Given the description of an element on the screen output the (x, y) to click on. 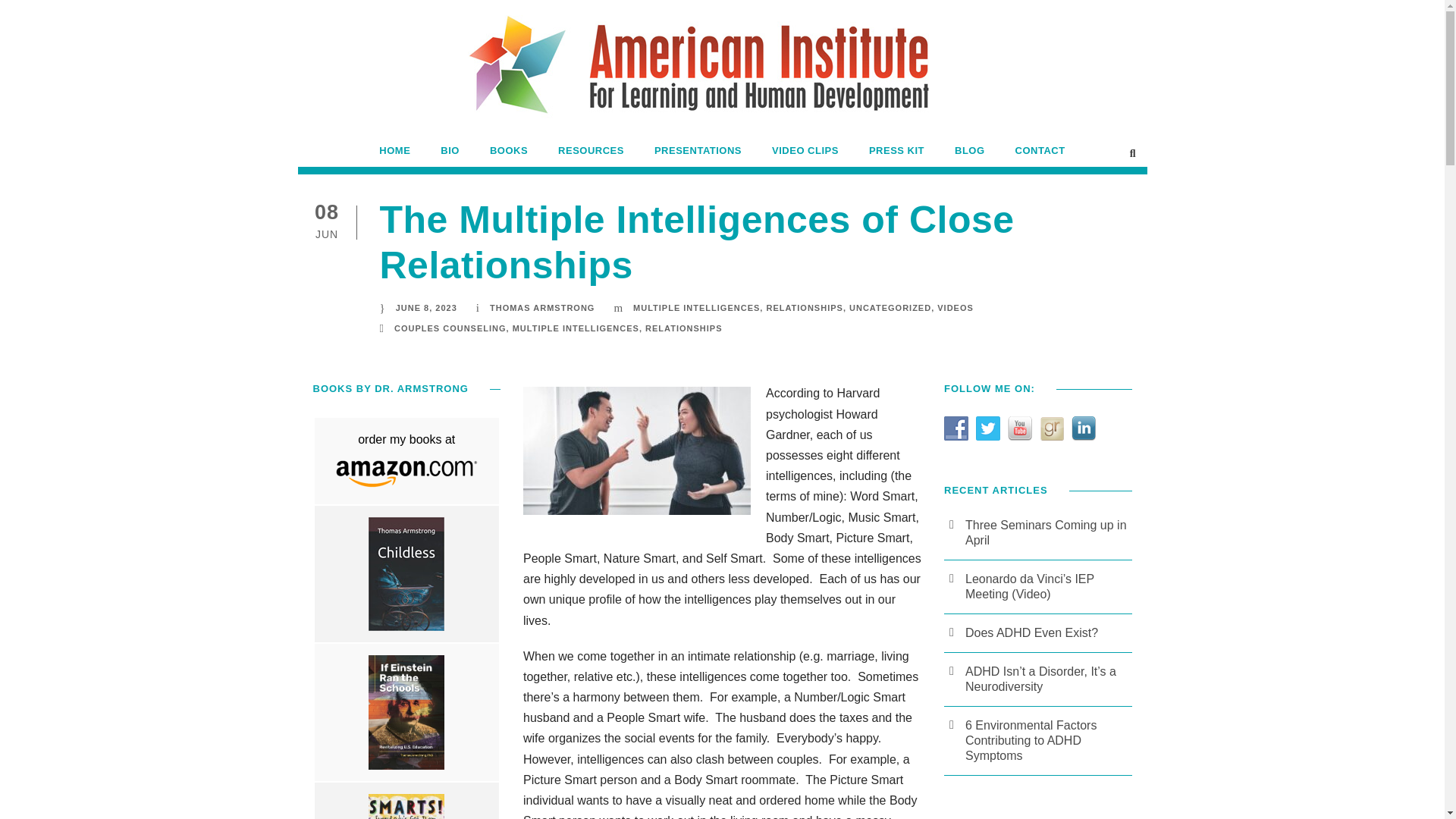
PRESENTATIONS (697, 154)
RELATIONSHIPS (683, 327)
HOME (394, 154)
Follow Us on Facebook (955, 428)
The American Institute for Learning and Human Development (722, 76)
MULTIPLE INTELLIGENCES (696, 307)
BLOG (970, 154)
THOMAS ARMSTRONG (541, 307)
Follow Us on Twitter (987, 428)
VIDEO CLIPS (804, 154)
